Given the description of an element on the screen output the (x, y) to click on. 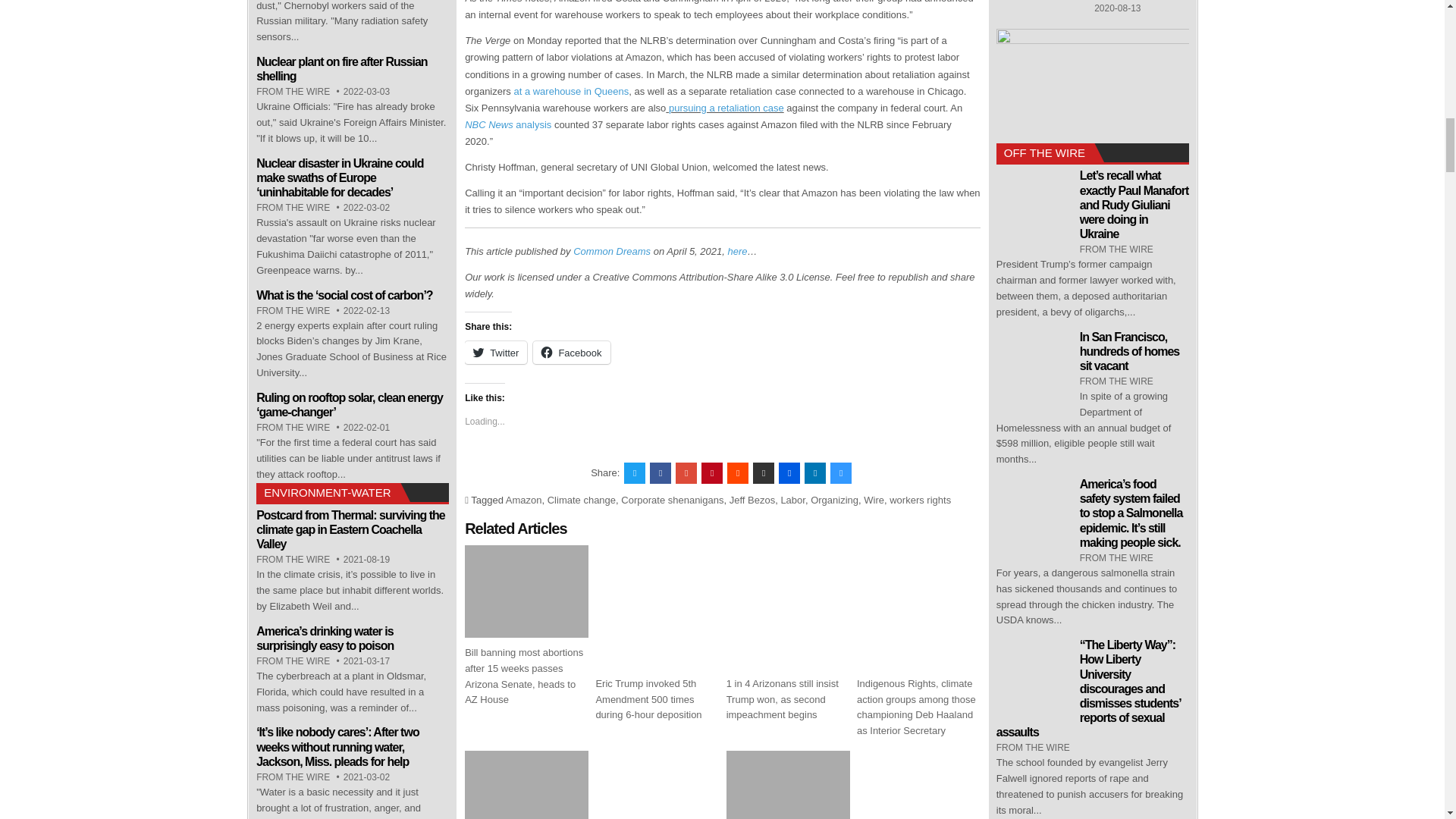
at a warehouse in Queens (570, 91)
Share this on Facebook (660, 473)
Common Dreams (611, 251)
Share this on Digg (788, 473)
NBC News analysis (507, 124)
Share this on VK (763, 473)
Share this on Linkedin (815, 473)
Share this on Pinterest (711, 473)
Tweet This! (634, 473)
pursuing a retaliation case (724, 107)
here (736, 251)
Facebook (571, 352)
Click to share on Facebook (571, 352)
Share this on Delicious (840, 473)
